Given the description of an element on the screen output the (x, y) to click on. 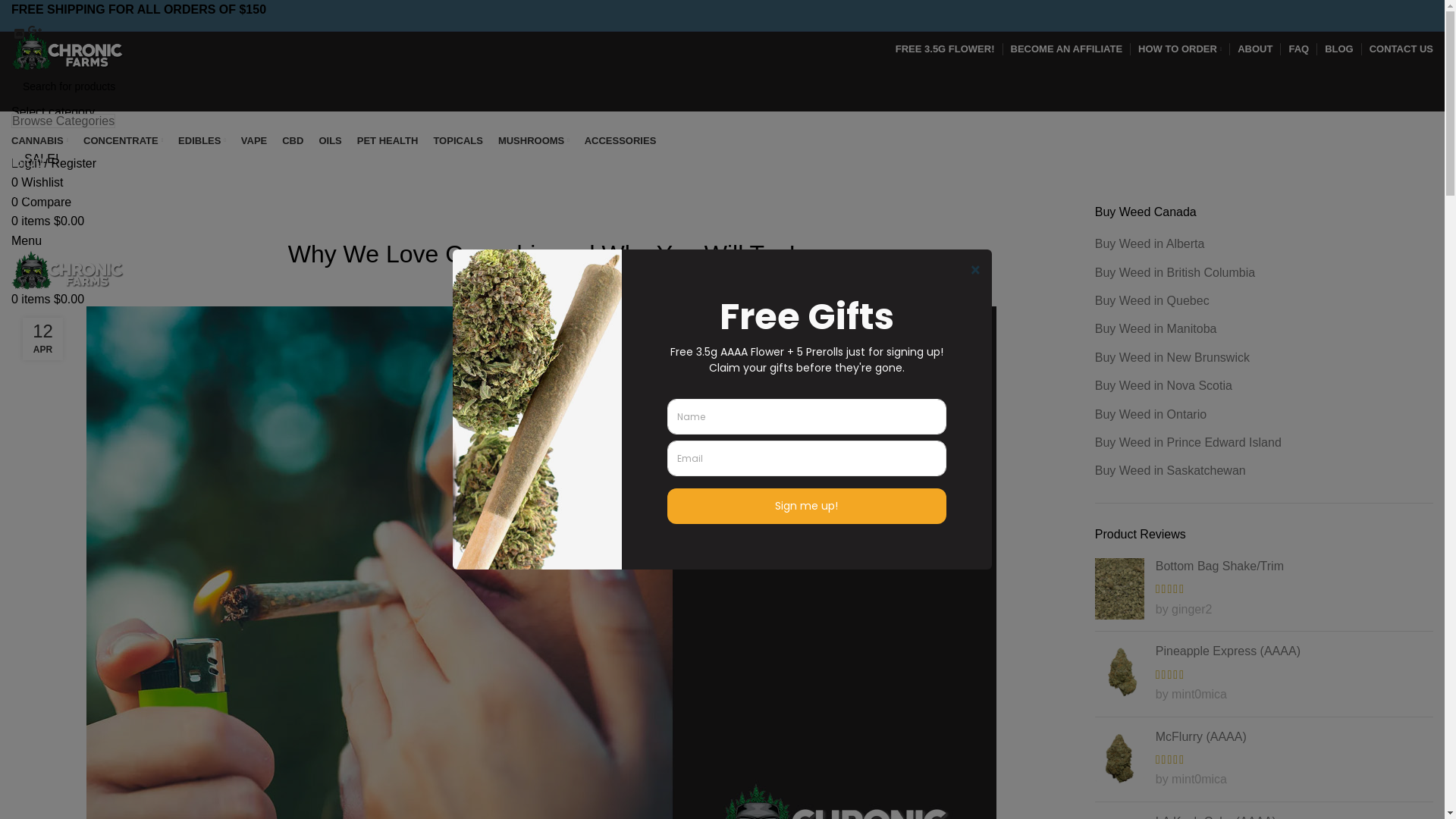
CANNABIS Element type: text (587, 212)
CBD Element type: text (292, 140)
0 items $0.00 Element type: text (47, 298)
Buy Weed in British Columbia Element type: text (1175, 272)
Bottom Bag Shake/Trim Element type: text (1264, 566)
HOME Element type: text (30, 194)
BUY WEED ONLINE Element type: text (514, 212)
VAPE Element type: text (253, 140)
Buy Weed in Nova Scotia Element type: text (1164, 385)
BlogMaster Element type: text (578, 283)
Buy Weed in Quebec Element type: text (1153, 300)
ACCESSORIES Element type: text (620, 140)
12
APR Element type: text (42, 338)
Buy Weed in Ontario Element type: text (1151, 414)
Search for products Element type: hover (722, 86)
Buy Weed in New Brunswick Element type: text (1173, 357)
EDIBLES Element type: text (201, 140)
HOW TO ORDER Element type: text (1179, 49)
ABOUT Element type: text (1254, 49)
CONTACT US Element type: text (1401, 49)
Buy Weed in Alberta Element type: text (1150, 243)
PET HEALTH Element type: text (387, 140)
CANNABIS Element type: text (39, 140)
0 items $0.00 Element type: text (47, 220)
Login / Register Element type: text (53, 162)
BECOME AN AFFILIATE Element type: text (1066, 49)
CONCENTRATE Element type: text (123, 140)
0 Wishlist Element type: text (36, 181)
SALE! Element type: text (41, 158)
Buy Weed in Prince Edward Island Element type: text (1189, 442)
FAQ Element type: text (1298, 49)
Buy Weed in Manitoba Element type: text (1156, 328)
TOPICALS Element type: text (458, 140)
SEARCH Element type: text (47, 137)
0 Compare Element type: text (41, 201)
OILS Element type: text (329, 140)
FREE 3.5G FLOWER! Element type: text (944, 49)
Menu Element type: text (26, 240)
BLOG Element type: text (1338, 49)
McFlurry (AAAA) Element type: text (1264, 736)
Pineapple Express (AAAA) Element type: text (1264, 651)
BUY WEED ONLINE Element type: text (89, 194)
Buy Weed in Saskatchewan Element type: text (1171, 470)
Select category Element type: text (52, 111)
MUSHROOMS Element type: text (533, 140)
